Given the description of an element on the screen output the (x, y) to click on. 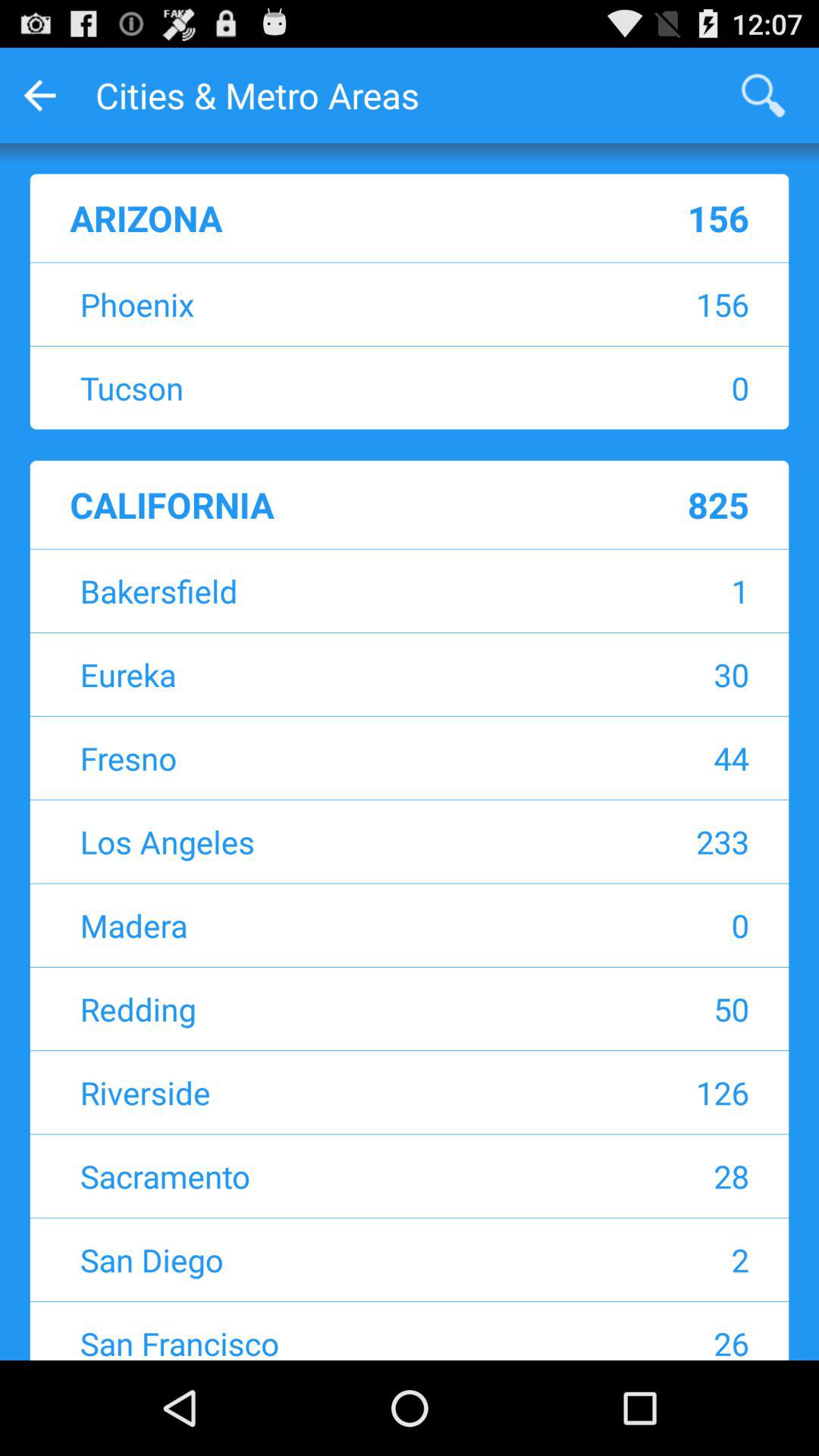
select san francisco icon (314, 1340)
